Given the description of an element on the screen output the (x, y) to click on. 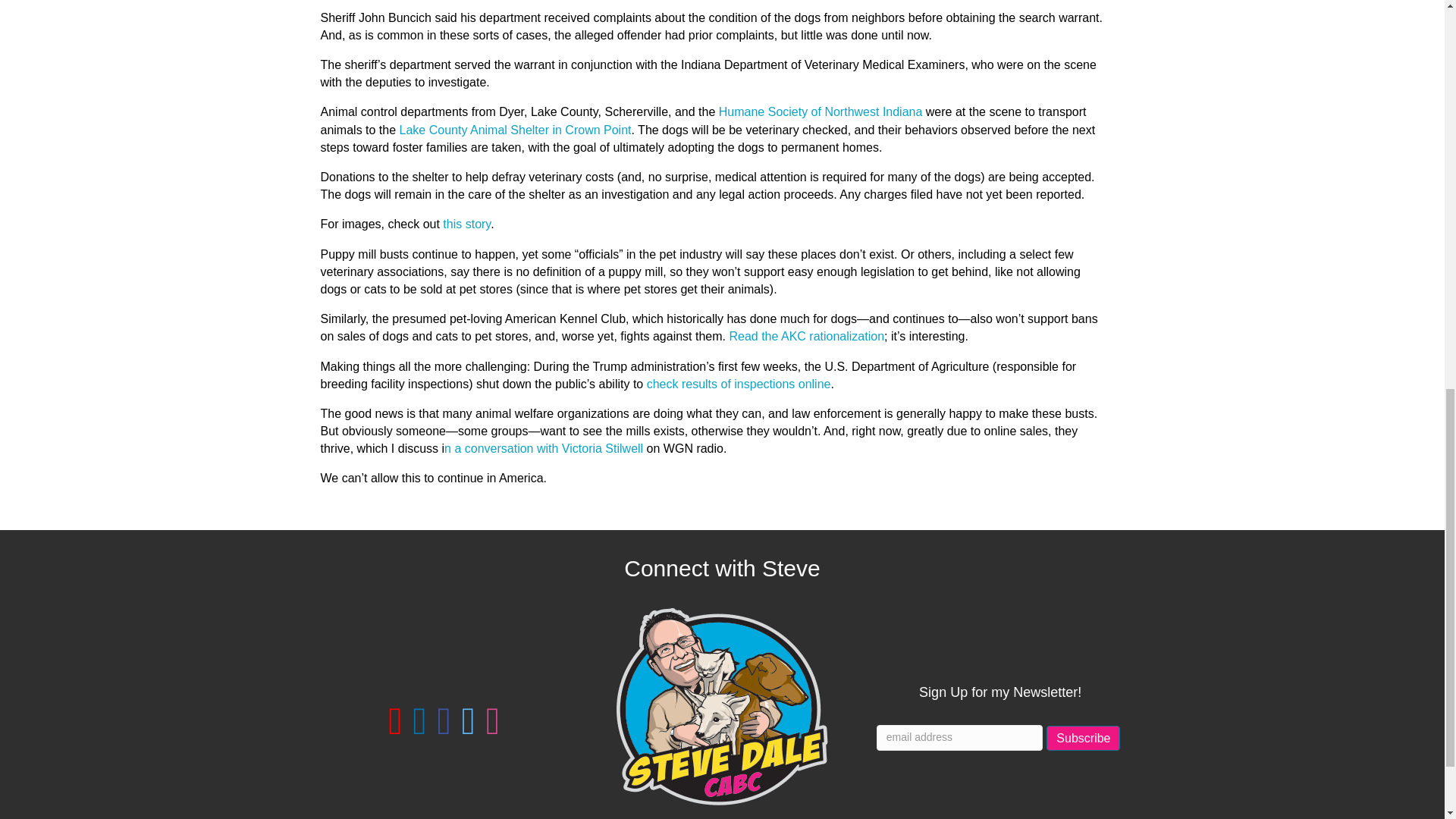
n a conversation with Victoria Stilwell (543, 448)
check results of inspections online (738, 383)
Subscribe (1082, 738)
this story (466, 223)
Read the AKC rationalization (806, 336)
Lake County Animal Shelter in Crown Point (514, 129)
Humane Society of Northwest Indiana (822, 111)
Subscribe (1082, 738)
